Given the description of an element on the screen output the (x, y) to click on. 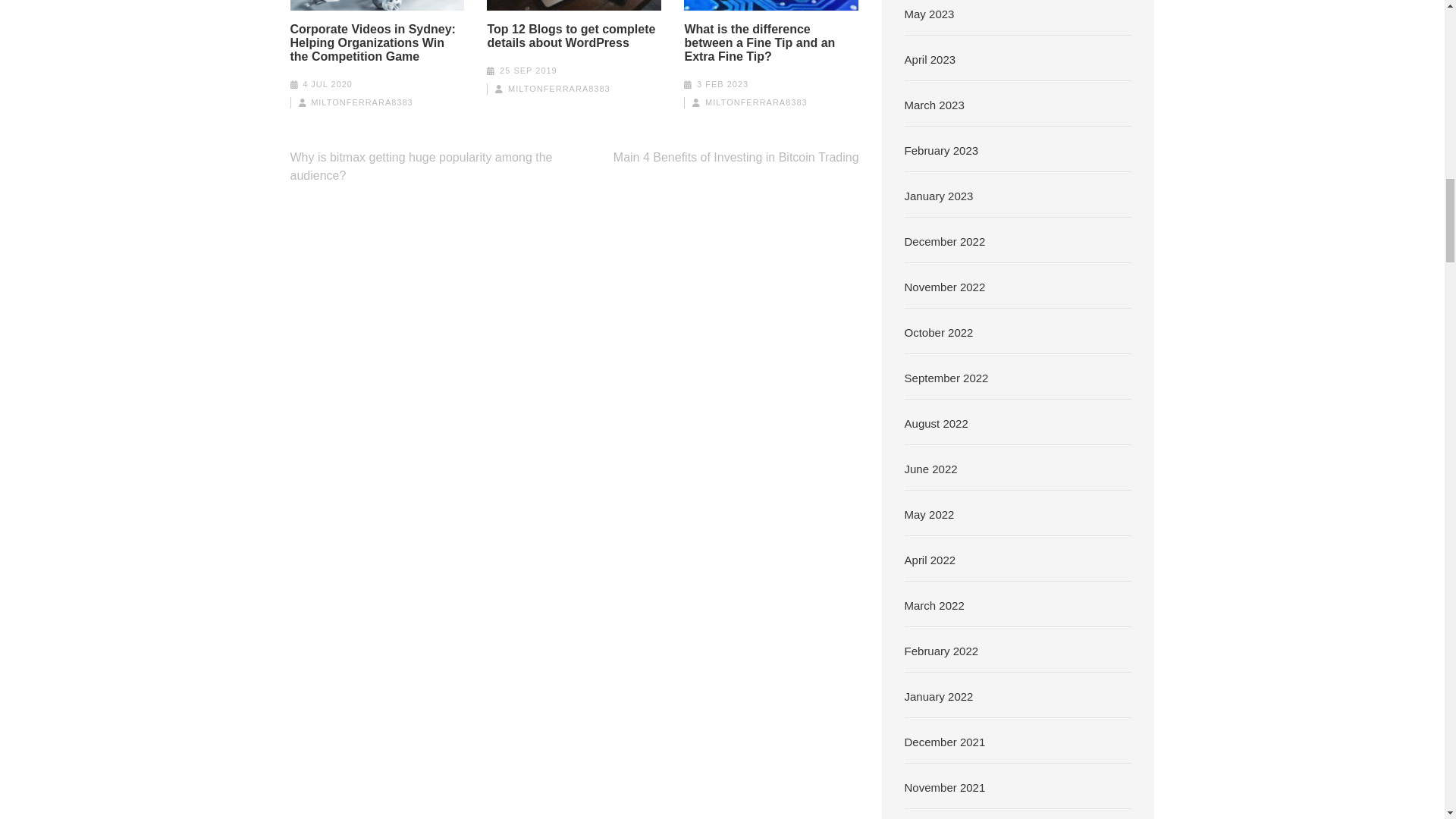
3 FEB 2023 (722, 83)
MILTONFERRARA8383 (559, 88)
MILTONFERRARA8383 (362, 102)
MILTONFERRARA8383 (756, 102)
Main 4 Benefits of Investing in Bitcoin Trading (735, 156)
Top 12 Blogs to get complete details about WordPress (573, 35)
25 SEP 2019 (528, 70)
Why is bitmax getting huge popularity among the audience? (420, 165)
